Given the description of an element on the screen output the (x, y) to click on. 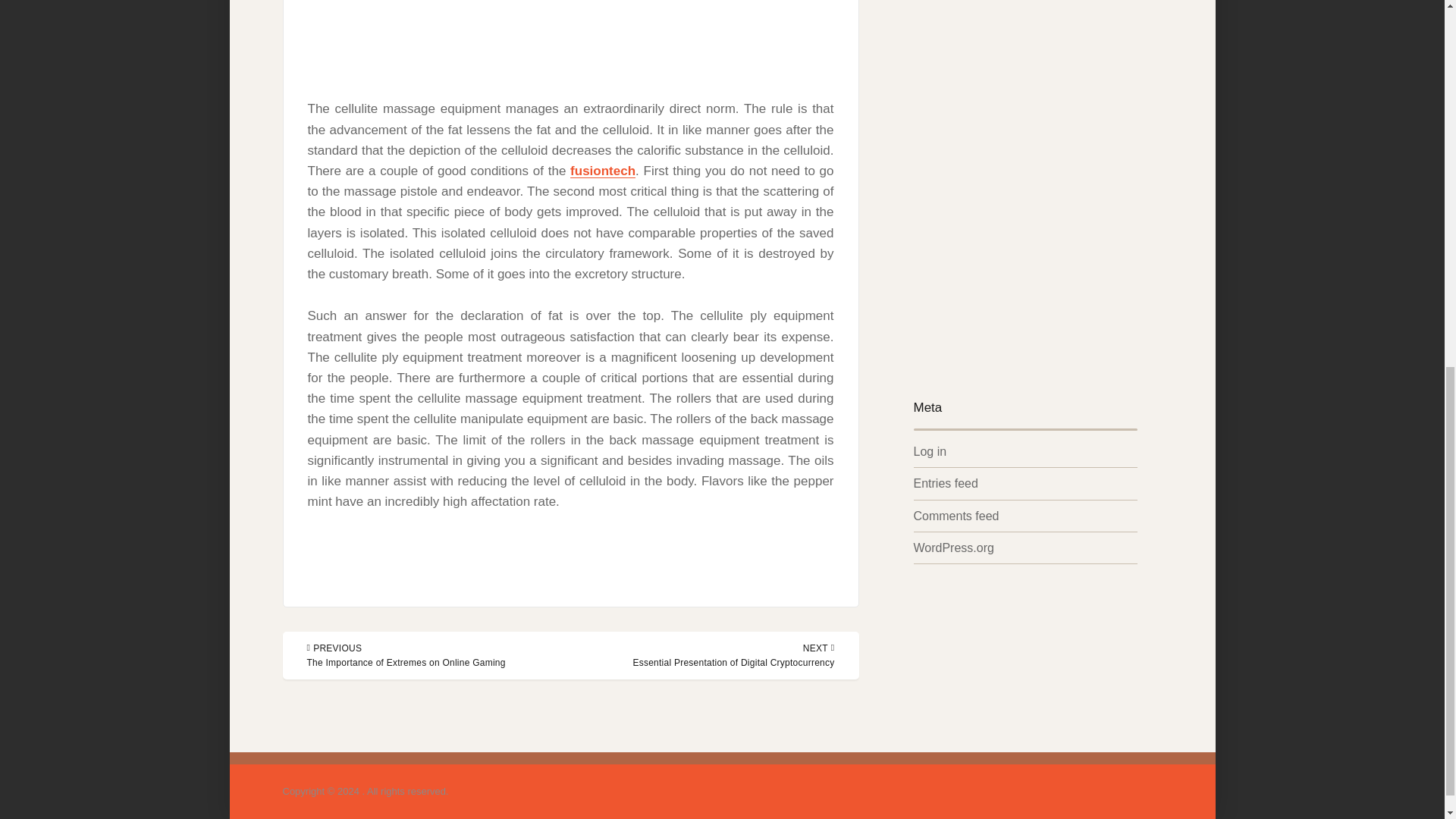
Comments feed (955, 515)
Entries feed (944, 482)
fusiontech (602, 170)
WordPress.org (952, 547)
Log in (929, 451)
